Given the description of an element on the screen output the (x, y) to click on. 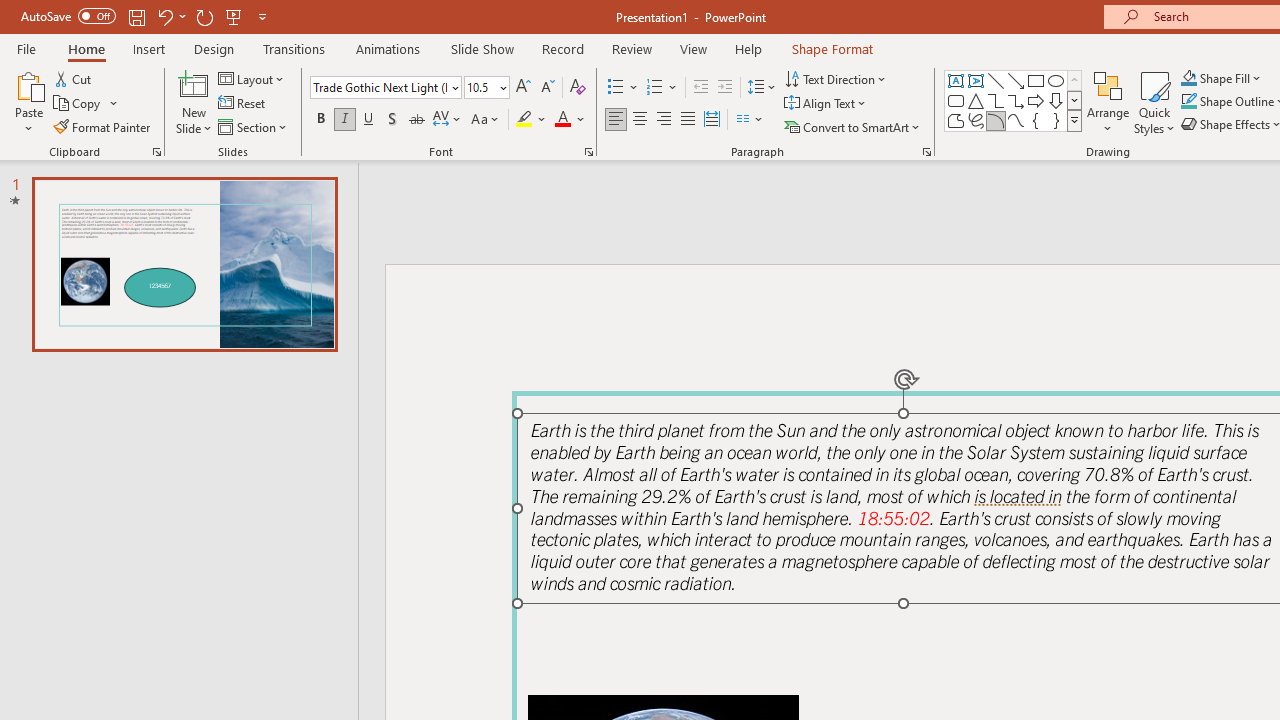
Shape Outline Teal, Accent 1 (1188, 101)
